Given the description of an element on the screen output the (x, y) to click on. 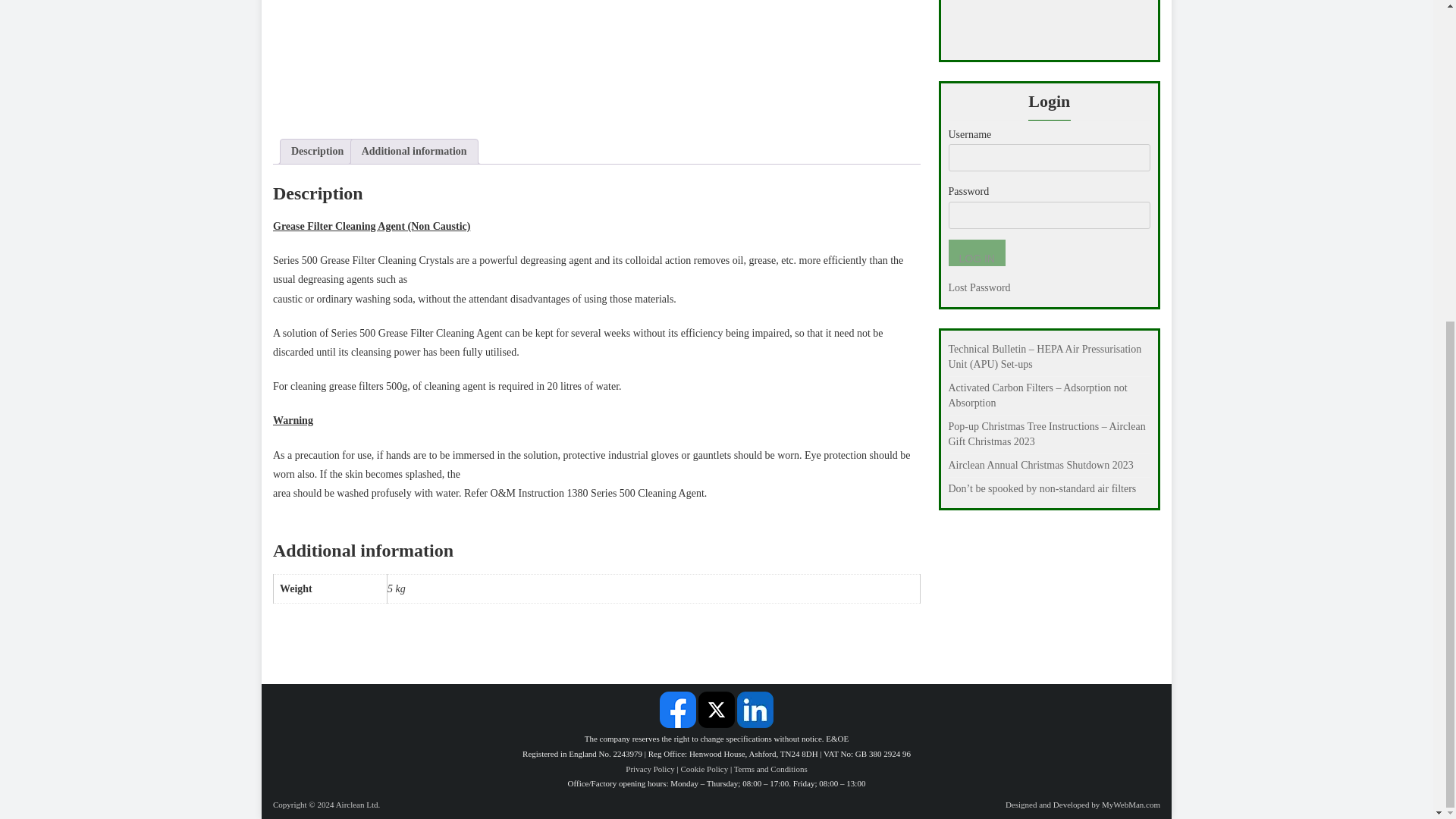
Log In (975, 252)
